Given the description of an element on the screen output the (x, y) to click on. 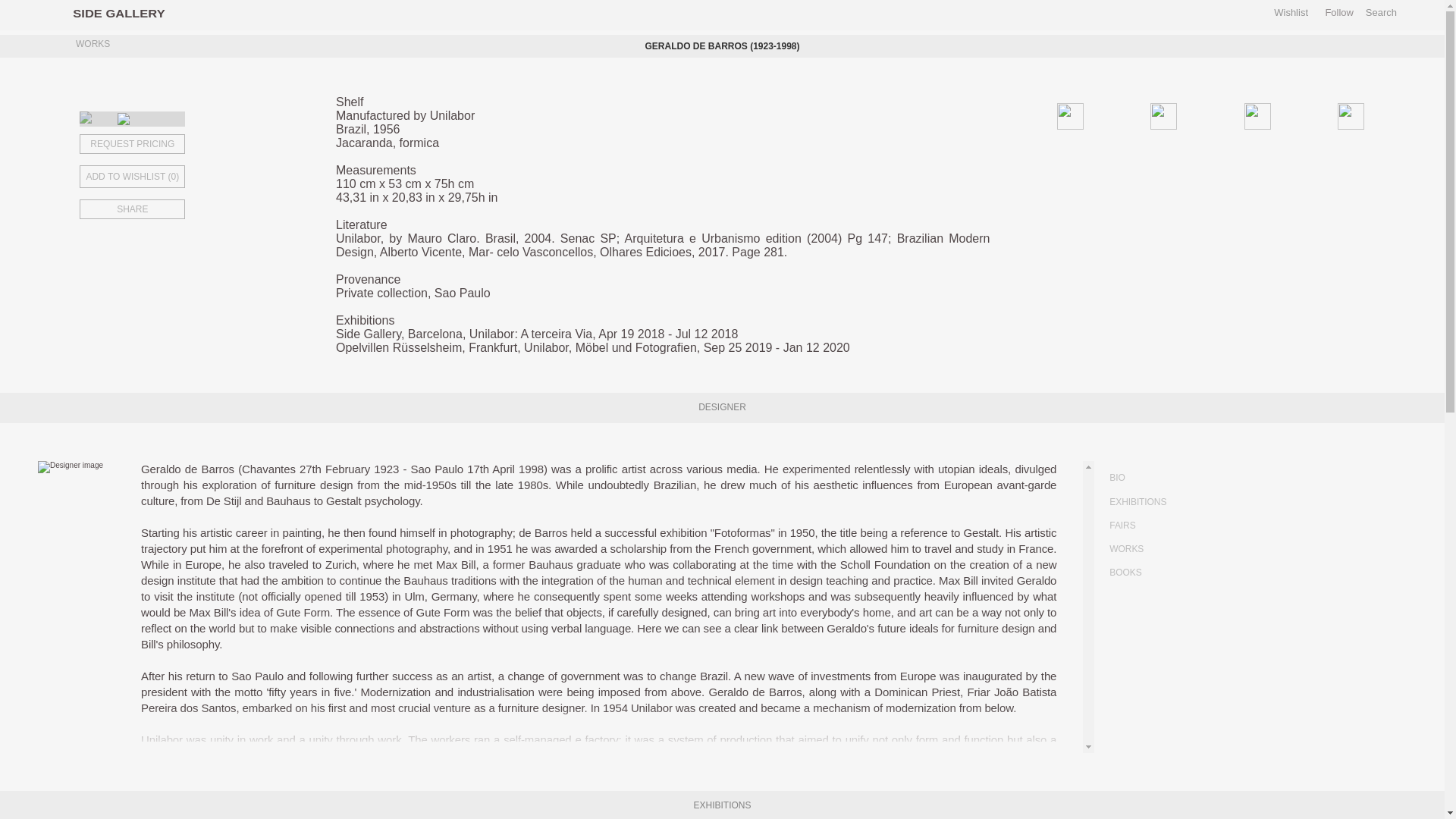
REQUEST PRICING (187, 143)
Share on Facebook. (1104, 114)
SIDE GALLERY (113, 12)
Bookmark This (187, 172)
WORKS (89, 46)
Wishlist (1290, 12)
EXHIBITIONS (1210, 502)
WORKS (1210, 549)
BIO (1210, 477)
SHARE (187, 209)
BOOKS (1210, 572)
FAIRS (1210, 525)
